Given the description of an element on the screen output the (x, y) to click on. 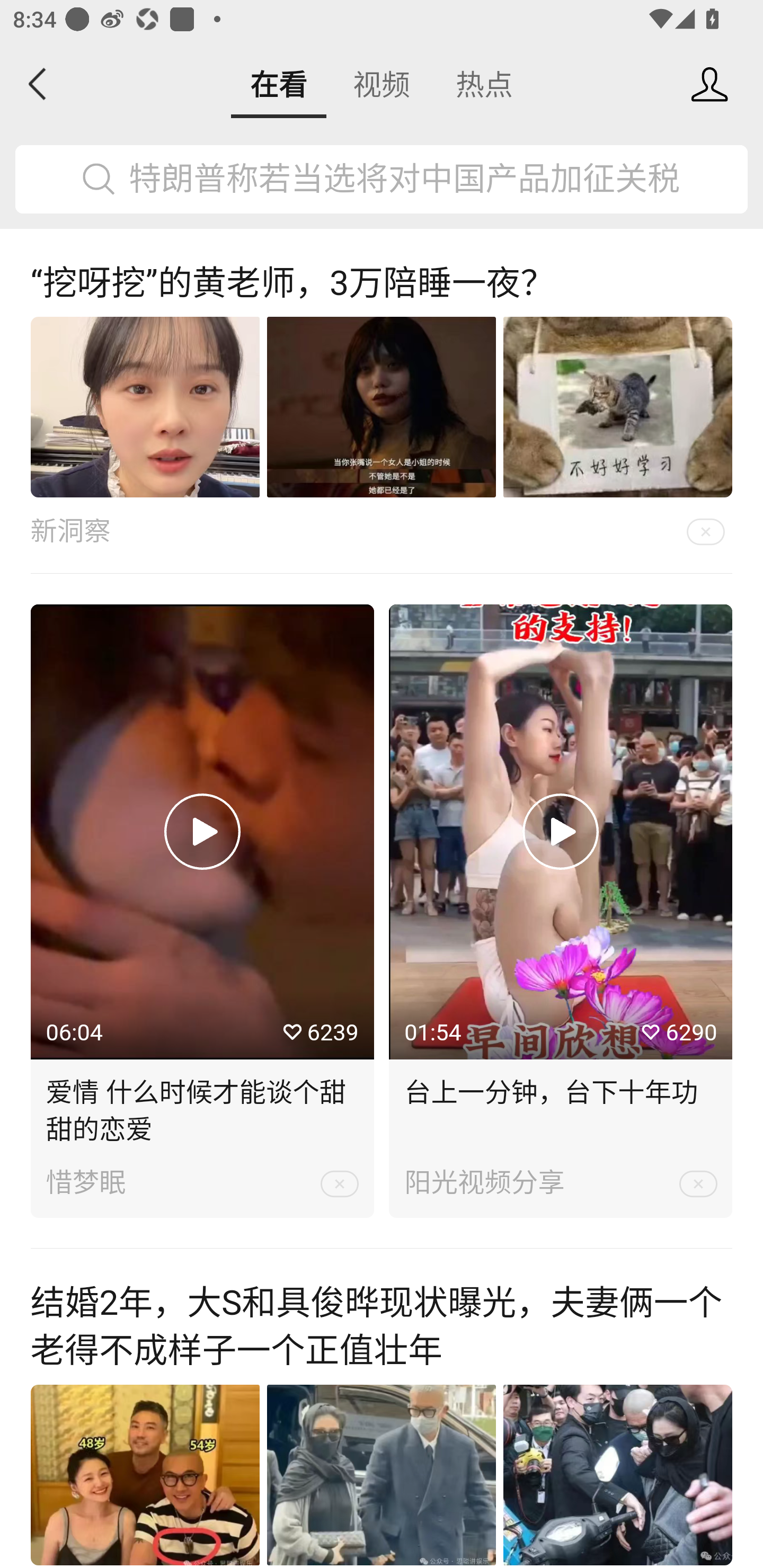
返回按钮 (38, 83)
个人中心 (709, 83)
在看 在看按钮 (278, 83)
视频 视频按钮 (381, 83)
热点 热点按钮 (483, 83)
特朗普称若当选将对中国产品加征关税 (381, 180)
“挖呀挖”的黄老师，3万陪睡一夜？ (381, 282)
负反馈 (706, 530)
06:04 6239 (201, 830)
01:54 6290 (560, 830)
爱情 什么时候才能谈个甜甜的恋爱 (201, 1103)
台上一分钟，台下十年功 (560, 1085)
负反馈 (339, 1182)
负反馈 (697, 1182)
结婚2年，大S和具俊晔现状曝光，夫妻俩一个老得不成样子一个正值壮年 (381, 1326)
